Given the description of an element on the screen output the (x, y) to click on. 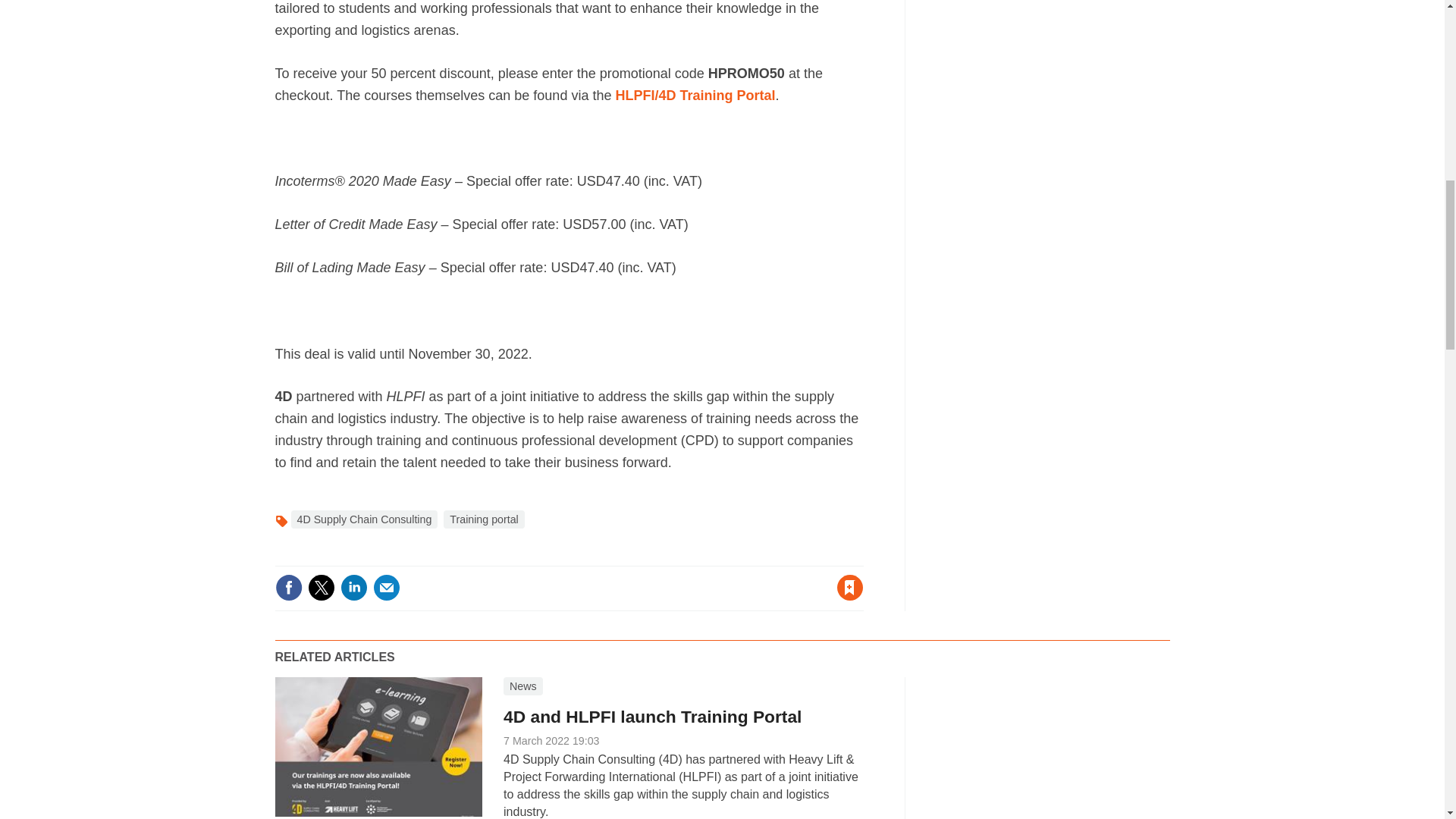
Share this on Facebook (288, 587)
Email this article (386, 587)
Share this on Linked in (352, 587)
Share this on Twitter (320, 587)
